Given the description of an element on the screen output the (x, y) to click on. 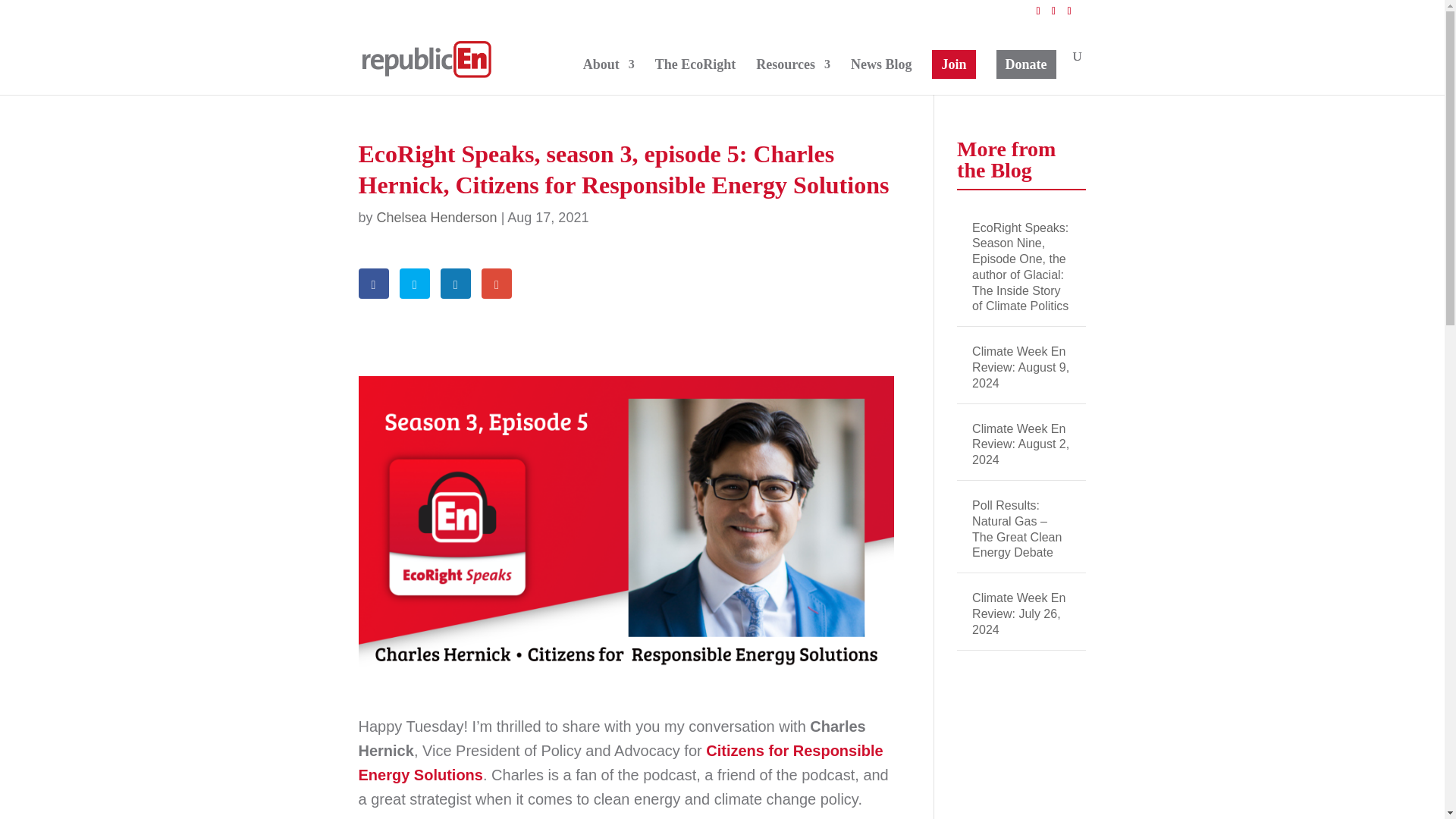
Donate (1026, 63)
News Blog (881, 76)
Resources (792, 76)
The EcoRight (695, 76)
Posts by Chelsea Henderson (437, 217)
About (608, 76)
Join (953, 63)
